Given the description of an element on the screen output the (x, y) to click on. 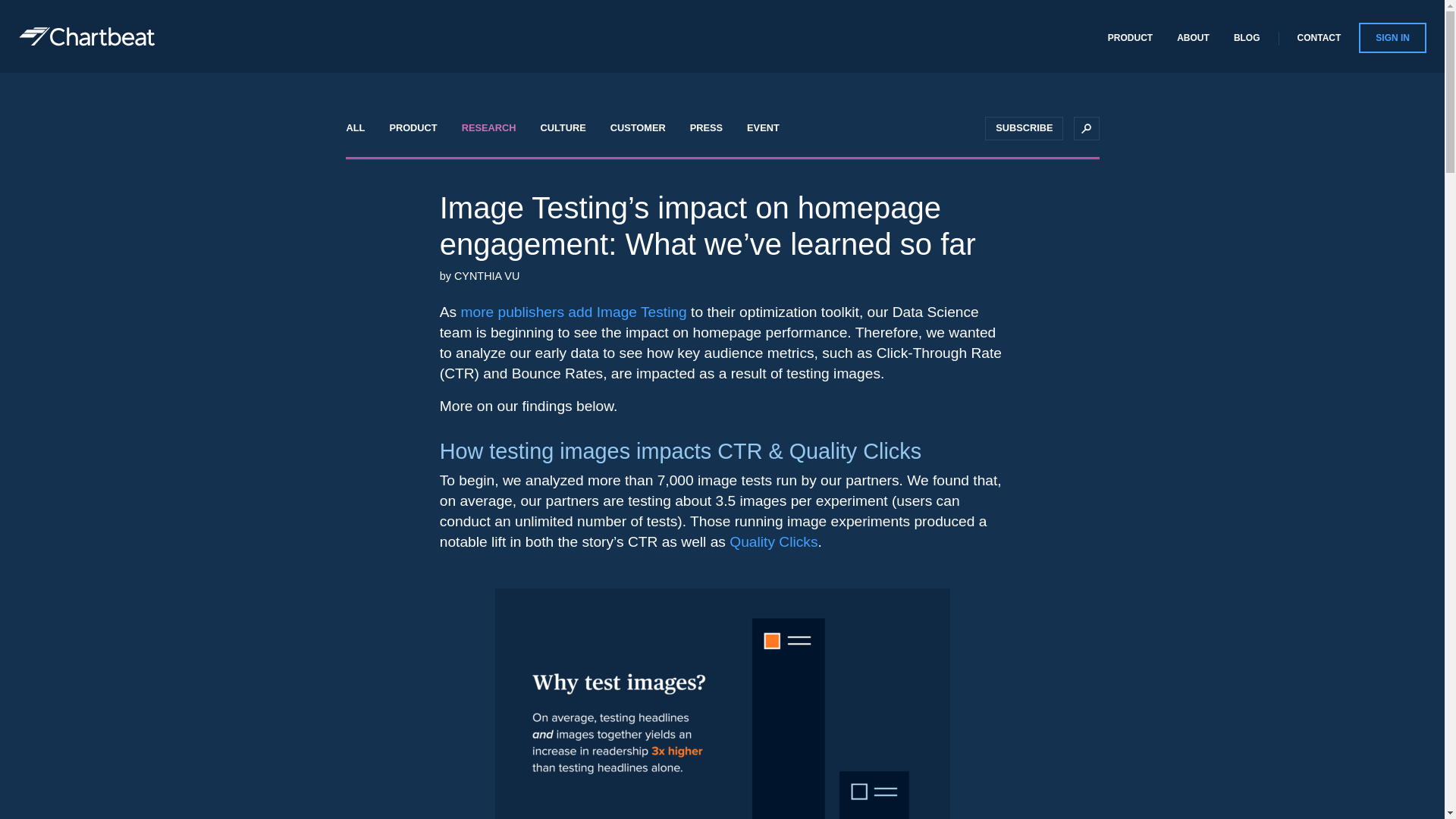
more publishers add Image Testing (572, 311)
SUBSCRIBE (1023, 128)
ABOUT (1192, 36)
EVENT (763, 128)
SEARCH (1086, 128)
CONTACT (1319, 36)
SIGN IN (1392, 37)
BLOG (1246, 36)
ALL (355, 128)
RESEARCH (488, 128)
CULTURE (561, 128)
Quality Clicks (772, 541)
PRESS (706, 128)
CUSTOMER (638, 128)
Posts by Cynthia Vu (486, 275)
